Given the description of an element on the screen output the (x, y) to click on. 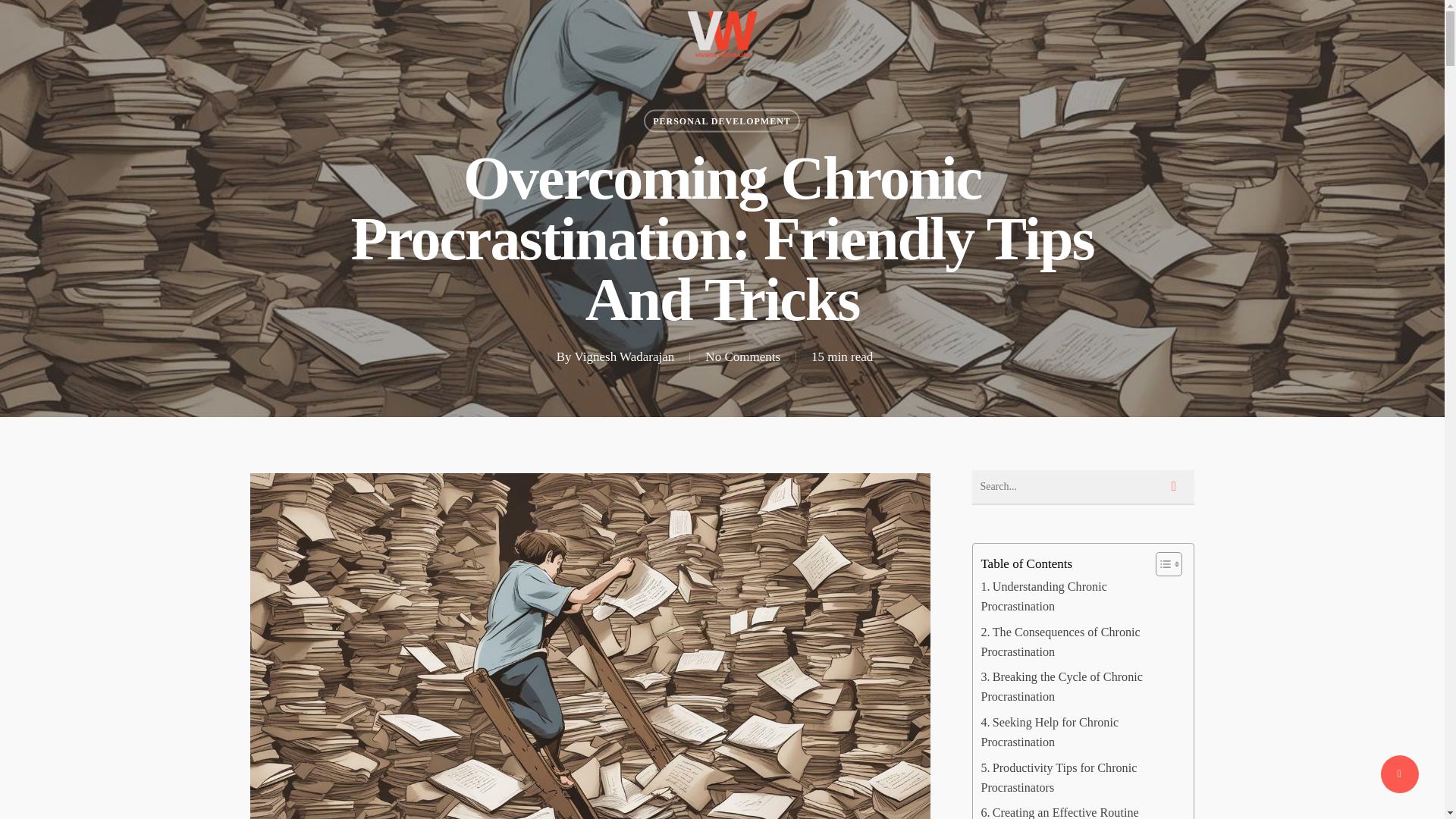
Search for: (1082, 487)
PERSONAL DEVELOPMENT (721, 119)
Understanding Chronic Procrastination (1078, 596)
Posts by Vignesh Wadarajan (625, 355)
Vignesh Wadarajan (625, 355)
No Comments (742, 355)
